Given the description of an element on the screen output the (x, y) to click on. 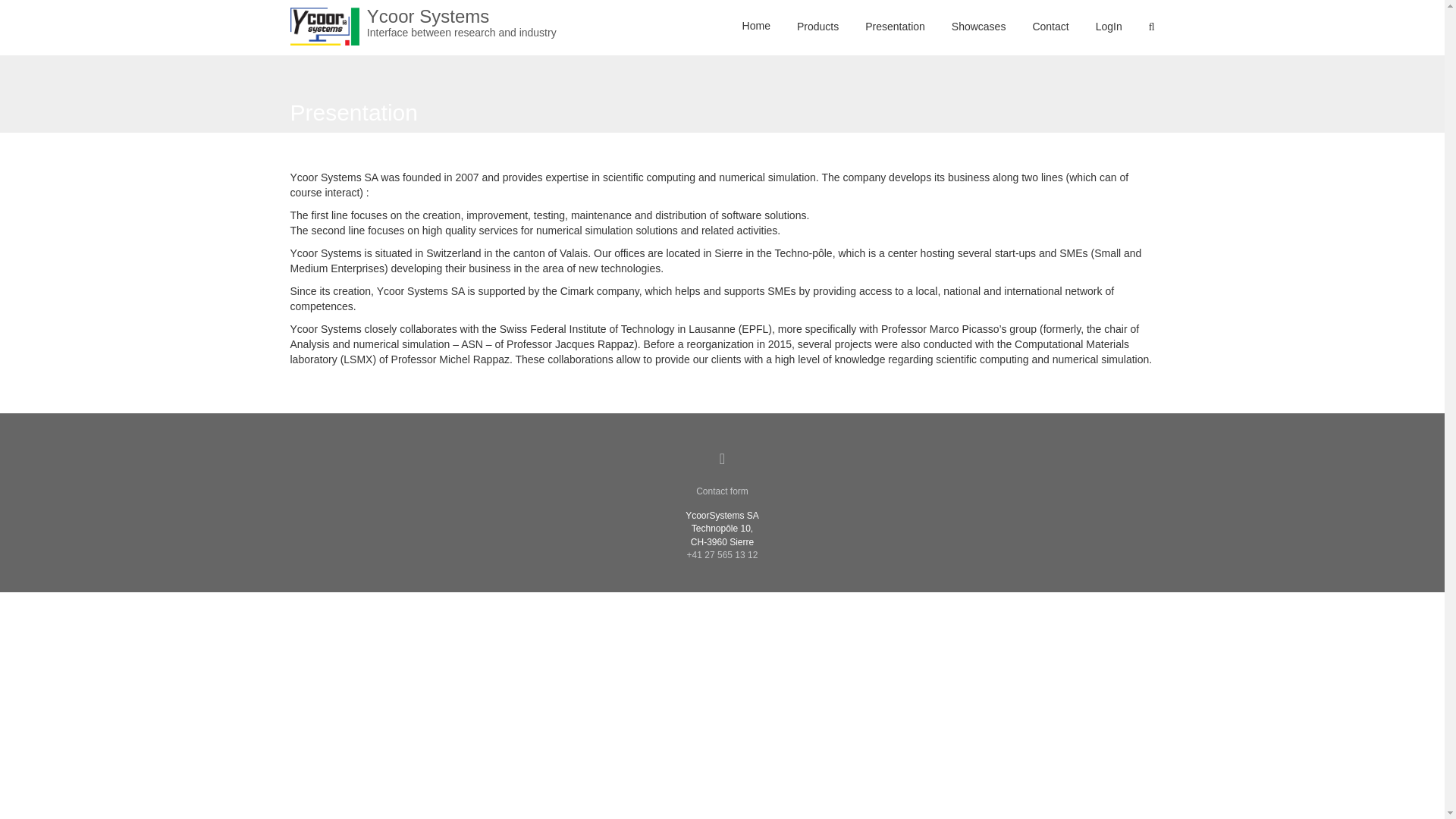
Presentation (894, 27)
Showcases (979, 27)
Contact form (721, 491)
Ycoor Systems (461, 22)
